Given the description of an element on the screen output the (x, y) to click on. 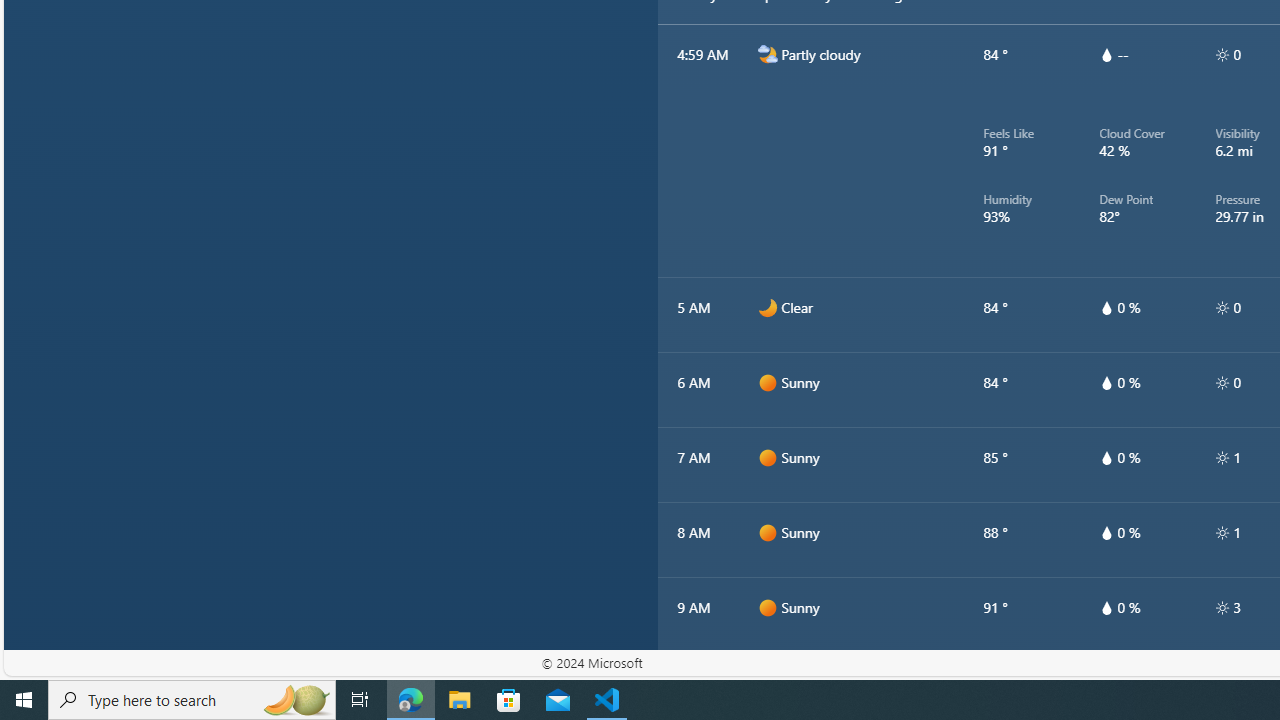
n2000 (767, 54)
n0000 (767, 308)
d0000 (767, 682)
hourlyTable/uv (1222, 607)
hourlyTable/drop (1106, 607)
